Given the description of an element on the screen output the (x, y) to click on. 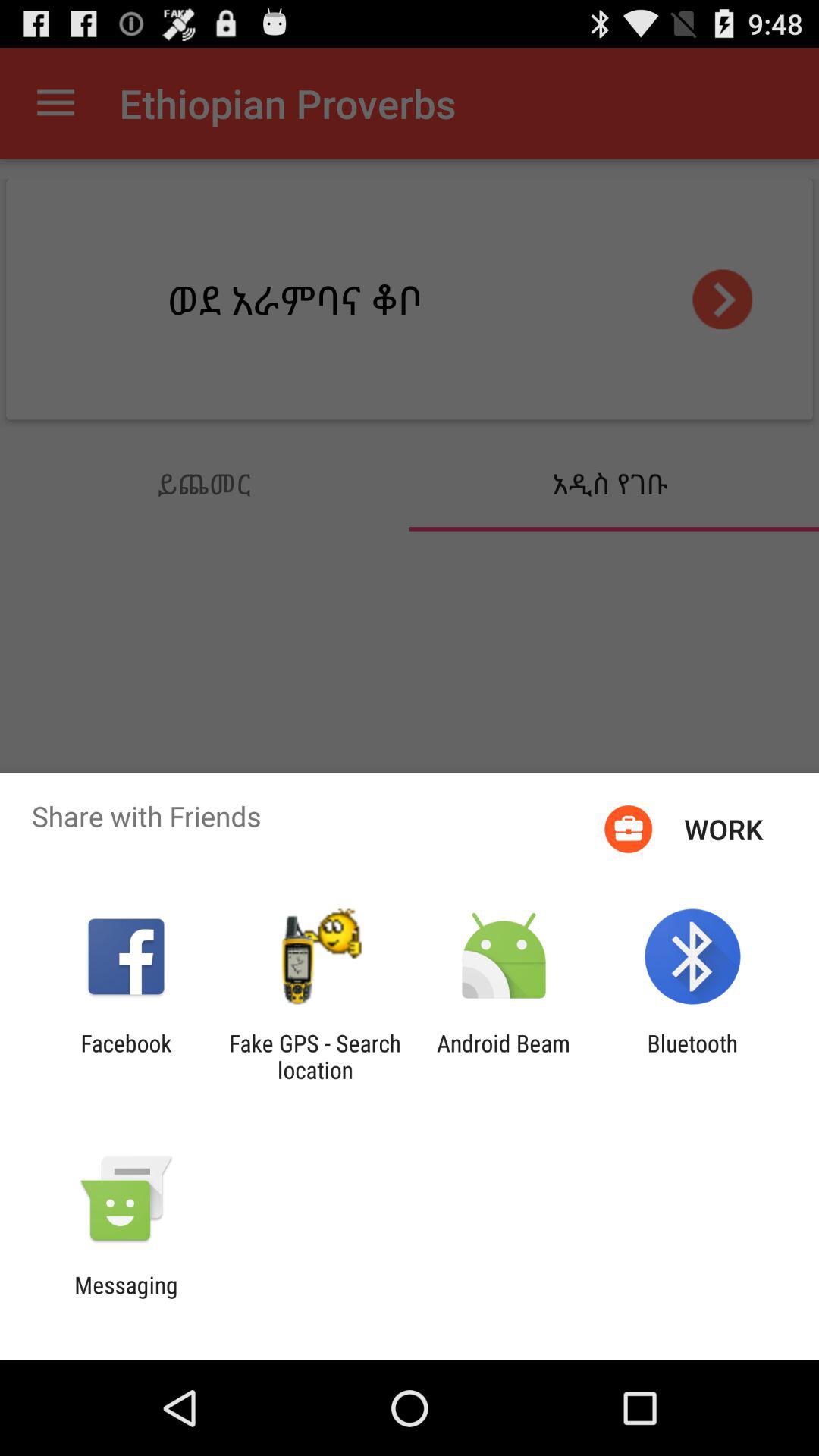
turn on app next to android beam icon (314, 1056)
